Given the description of an element on the screen output the (x, y) to click on. 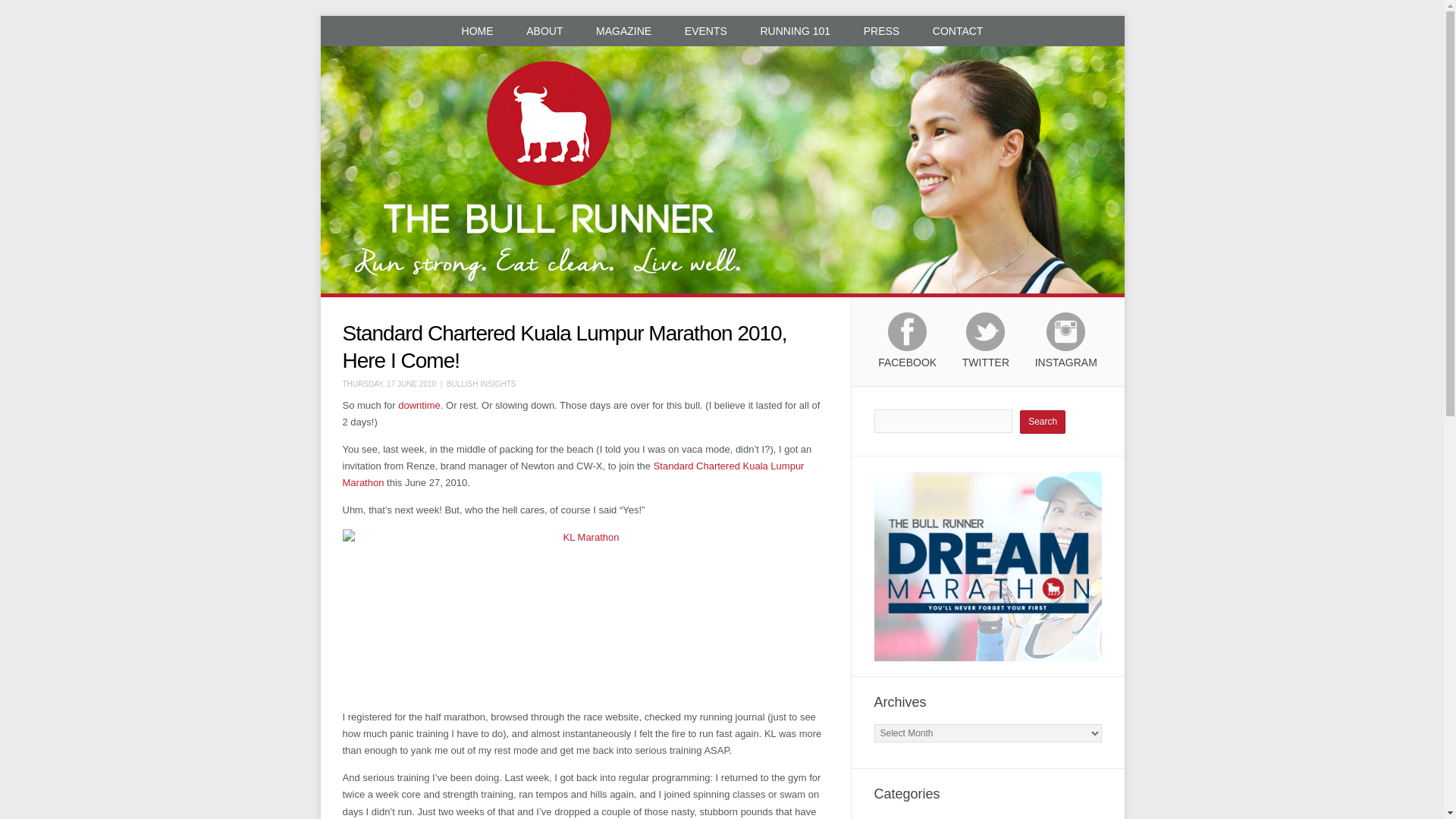
BULLISH INSIGHTS (481, 384)
HOME (477, 30)
MAGAZINE (623, 30)
CONTACT (957, 30)
KL Marathon (573, 474)
KL Marathon by JPizarro2008, on Flickr (585, 613)
ABOUT (544, 30)
FACEBOOK (906, 348)
Standard Chartered Kuala Lumpur Marathon (573, 474)
downtime (419, 405)
